Given the description of an element on the screen output the (x, y) to click on. 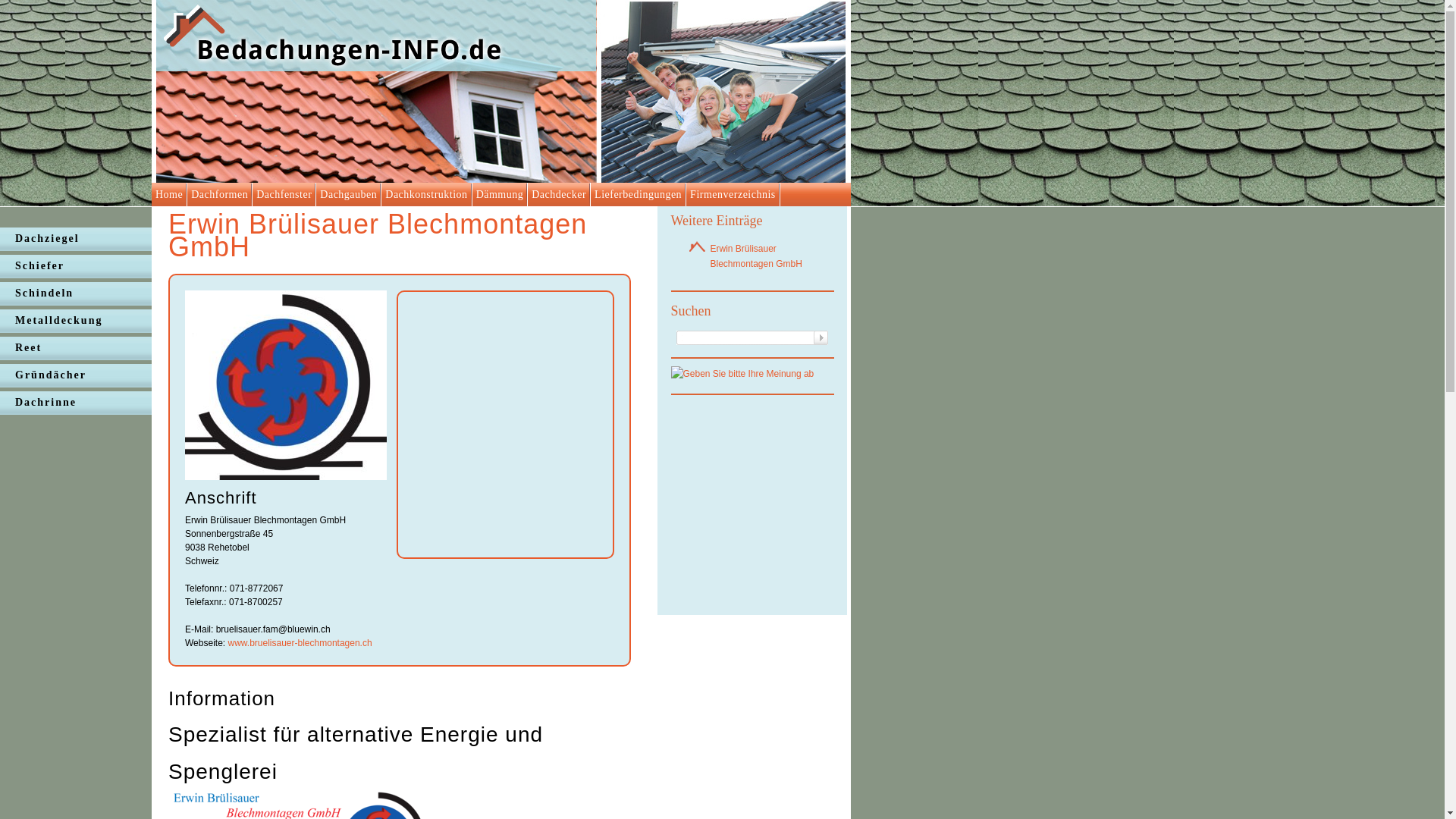
Suche Element type: text (820, 337)
Firmenverzeichnis Element type: text (733, 194)
Schindeln Element type: text (75, 293)
Geef a.u.b. u mening af Element type: hover (741, 373)
Dachdecker Element type: text (558, 194)
www.bruelisauer-blechmontagen.ch Element type: text (299, 642)
Dachformen Element type: text (219, 194)
Dachfenster Element type: text (284, 194)
Schiefer Element type: text (75, 265)
Webseite  Element type: hover (285, 476)
Reet Element type: text (75, 347)
Lieferbedingungen Element type: text (638, 194)
Home Element type: text (169, 194)
Dachgauben Element type: text (348, 194)
Dachziegel Element type: text (75, 238)
Dachkonstruktion Element type: text (426, 194)
Metalldeckung Element type: text (75, 320)
Advertisement Element type: hover (763, 504)
Dachrinne Element type: text (75, 402)
